Given the description of an element on the screen output the (x, y) to click on. 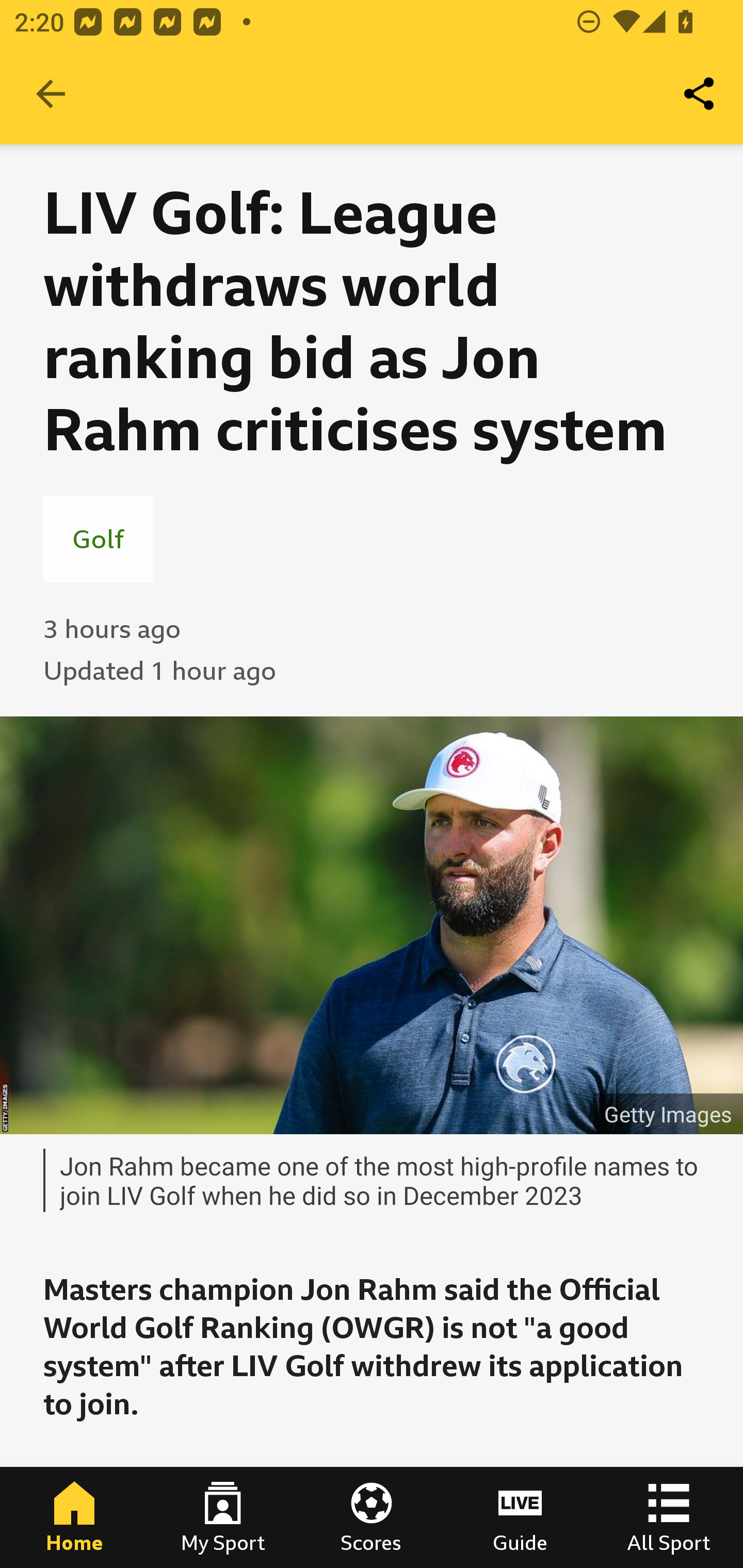
Navigate up (50, 93)
Share (699, 93)
Golf (98, 538)
My Sport (222, 1517)
Scores (371, 1517)
Guide (519, 1517)
All Sport (668, 1517)
